Given the description of an element on the screen output the (x, y) to click on. 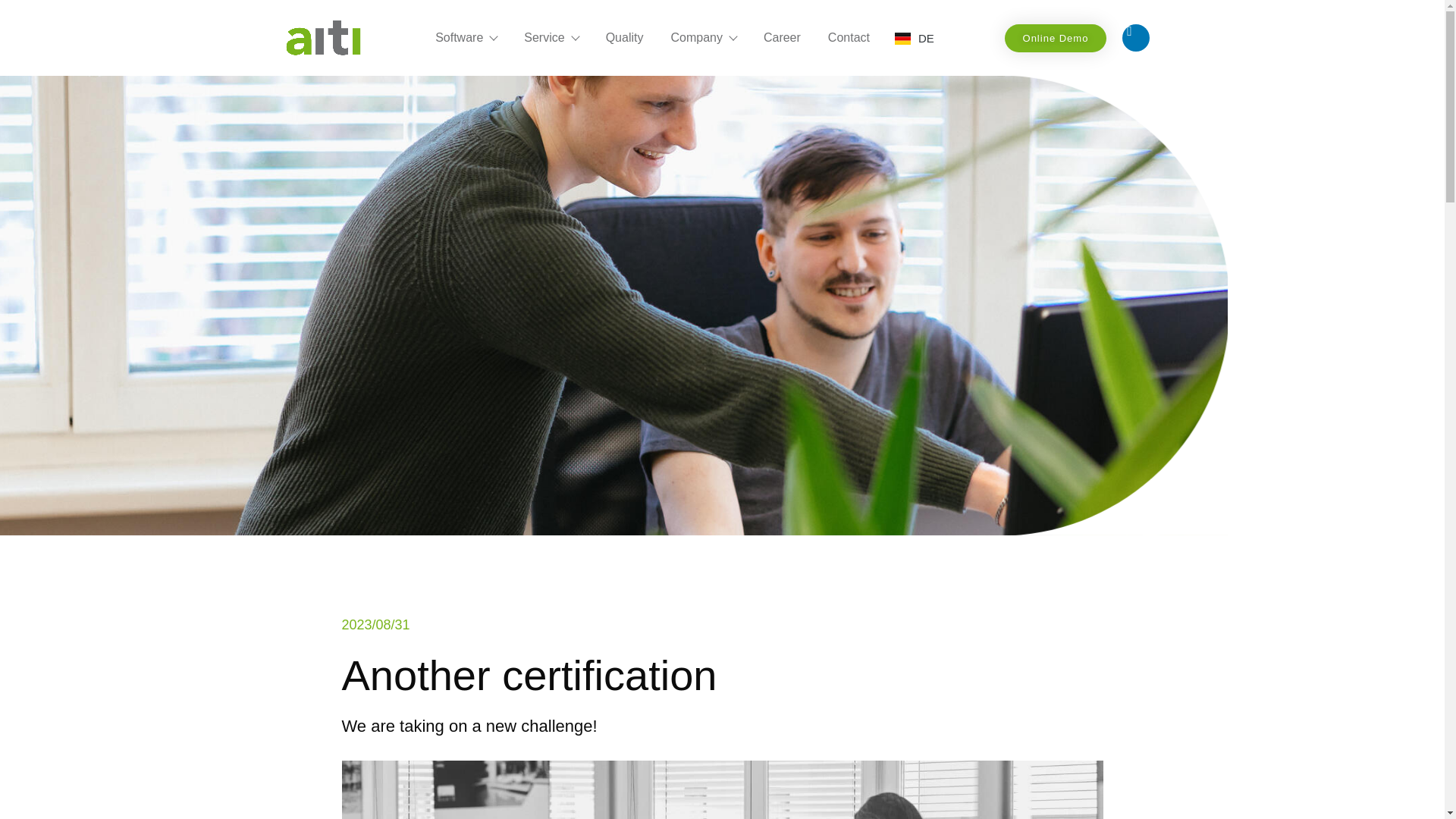
Skip to content (11, 31)
Quality (624, 37)
Career (781, 37)
Software (465, 37)
Online Demo (1055, 38)
DE (914, 38)
Service (550, 37)
Contact (849, 37)
Company (702, 37)
